Given the description of an element on the screen output the (x, y) to click on. 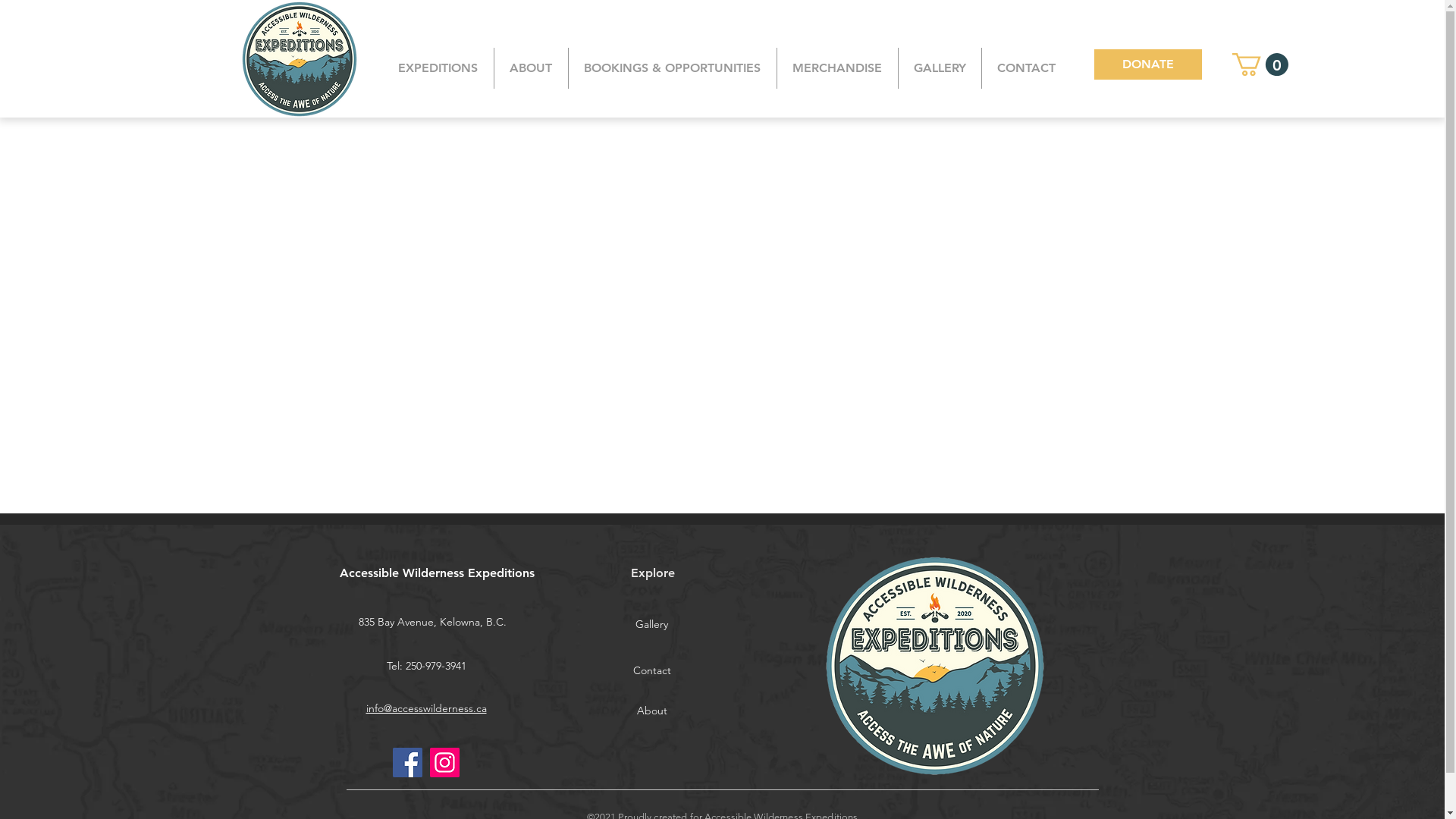
EXPEDITIONS Element type: text (437, 67)
0 Element type: text (1259, 64)
About Element type: text (651, 710)
MERCHANDISE Element type: text (836, 67)
Accessible Wilderness Expeditions Element type: text (436, 572)
GALLERY Element type: text (939, 67)
CONTACT Element type: text (1025, 67)
info@accesswilderness.ca Element type: text (425, 708)
DONATE Element type: text (1147, 64)
Gallery Element type: text (651, 624)
Contact Element type: text (651, 670)
